Given the description of an element on the screen output the (x, y) to click on. 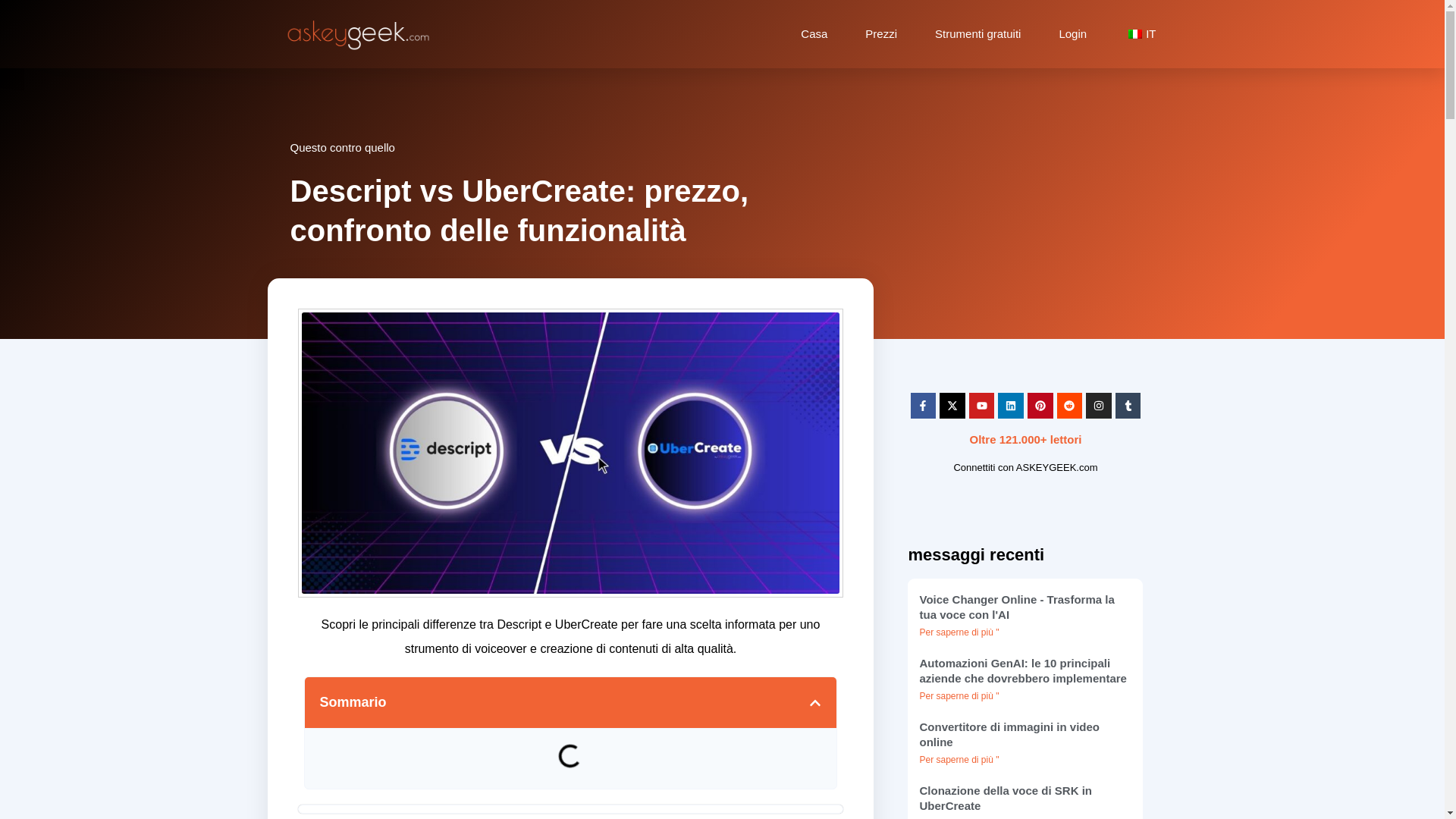
Questo contro quello (341, 146)
Strumenti gratuiti (977, 33)
Italiano (1134, 33)
